Given the description of an element on the screen output the (x, y) to click on. 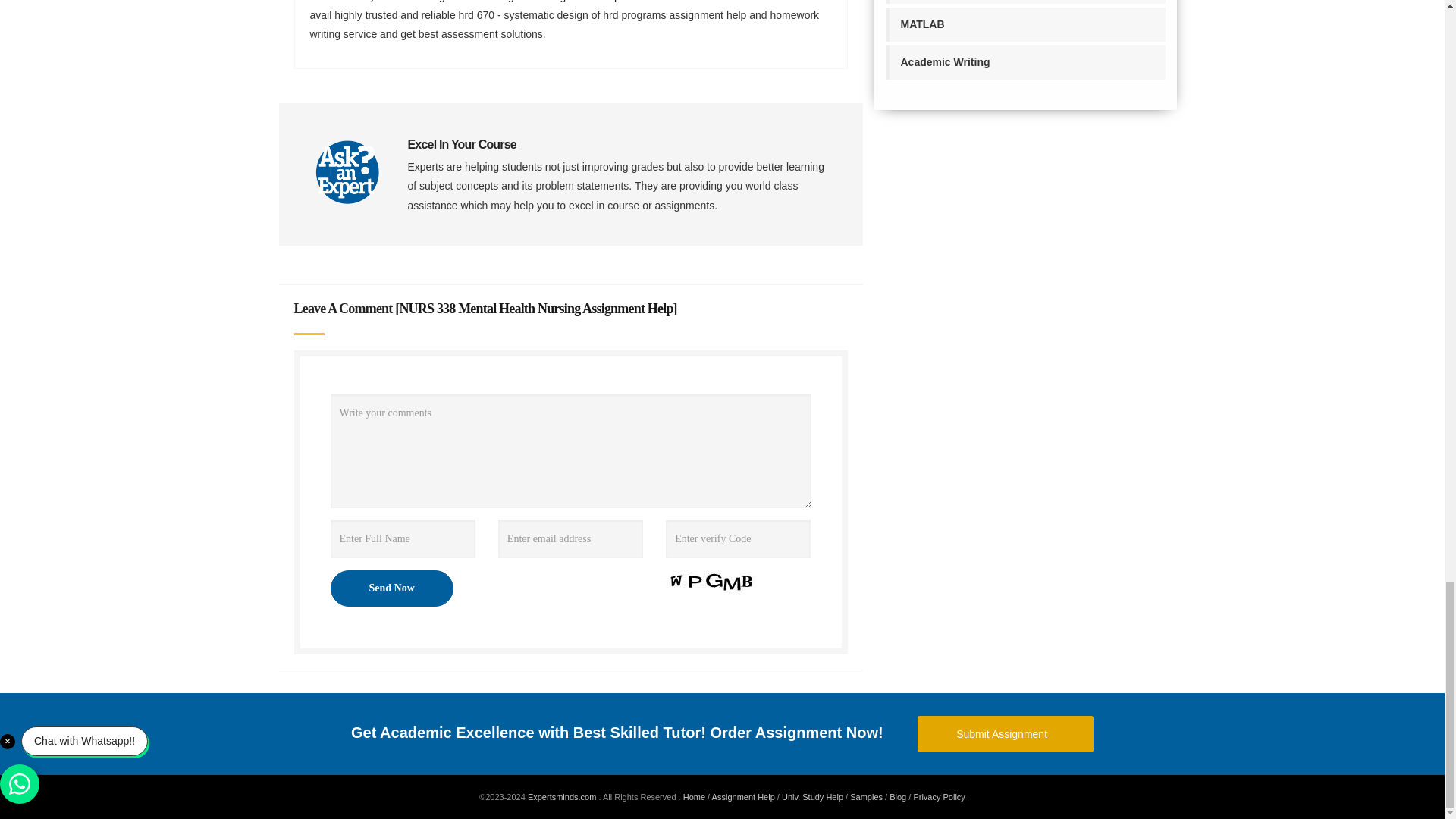
Send Now (391, 588)
Send Now (391, 588)
NURS 338 Mental Health Nursing Assignment Help (535, 308)
Programming assignment help (1025, 2)
